Given the description of an element on the screen output the (x, y) to click on. 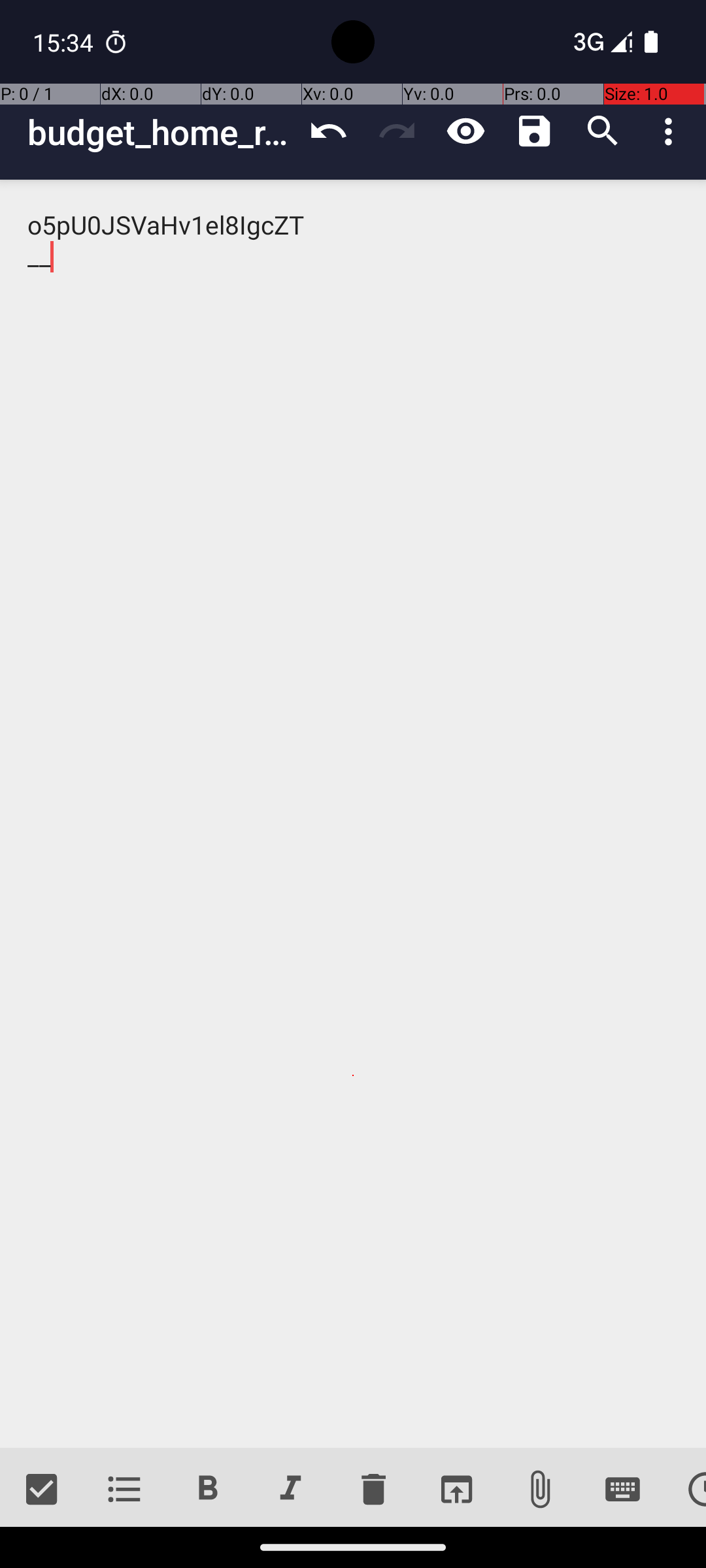
budget_home_renovation_final Element type: android.widget.TextView (160, 131)
o5pU0JSVaHv1el8IgcZT
__ Element type: android.widget.EditText (353, 813)
